Given the description of an element on the screen output the (x, y) to click on. 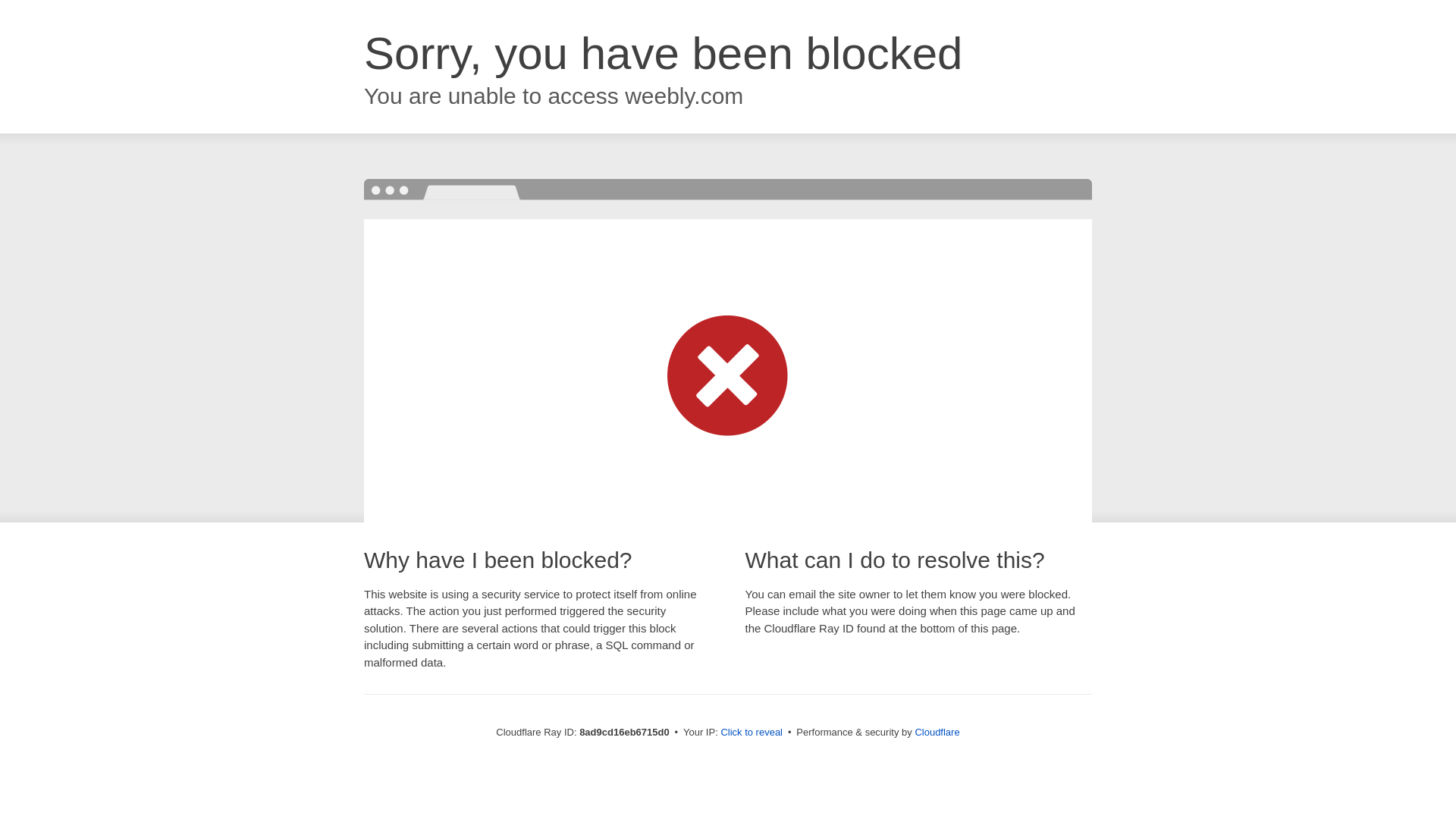
Cloudflare (936, 731)
Click to reveal (751, 732)
